Given the description of an element on the screen output the (x, y) to click on. 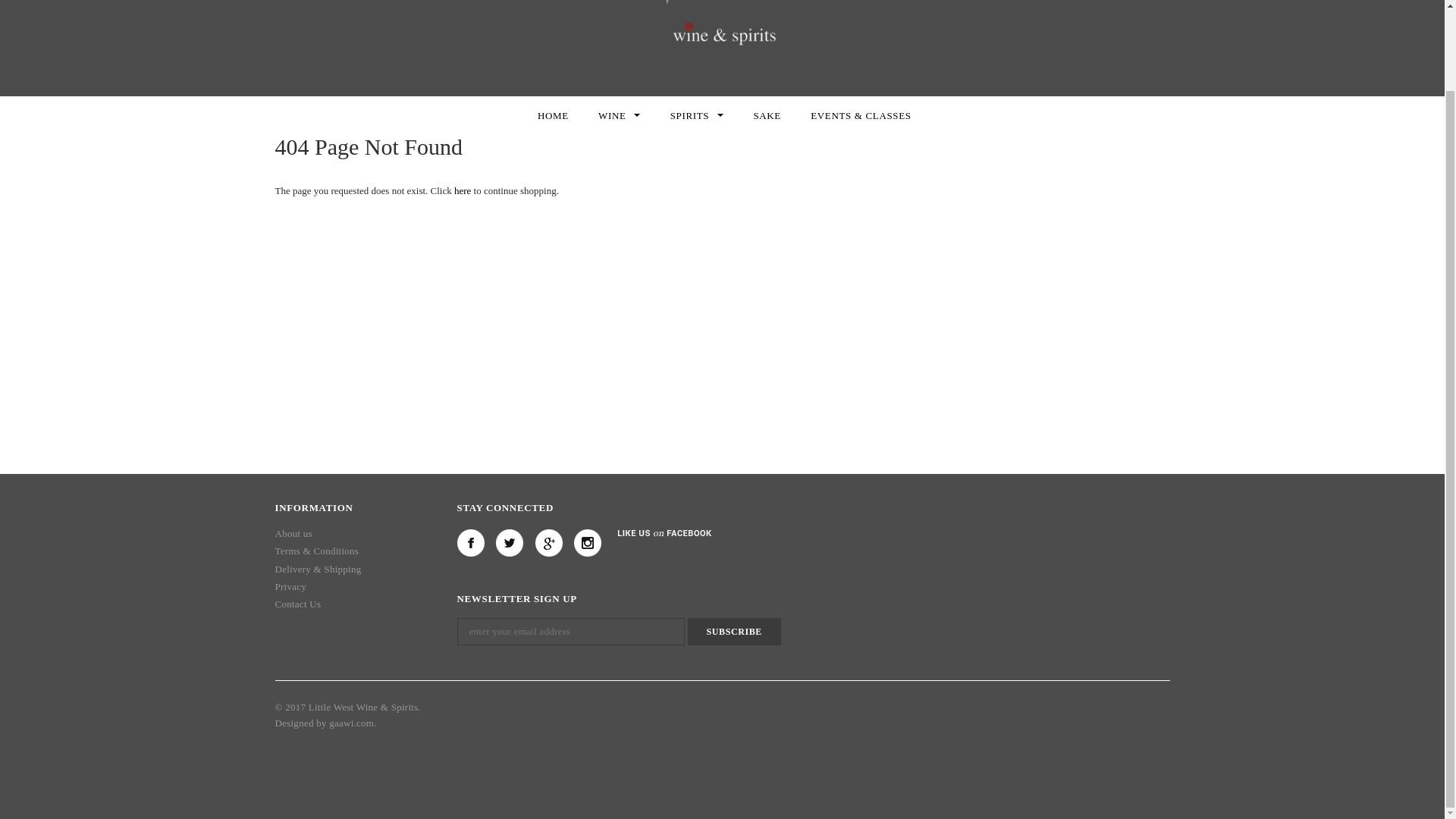
HOME (553, 115)
SPIRITS (696, 115)
About us (293, 538)
Subscribe (733, 631)
here (462, 190)
SAKE (766, 115)
gaawi.com (351, 724)
WINE (619, 115)
Privacy (290, 589)
